Given the description of an element on the screen output the (x, y) to click on. 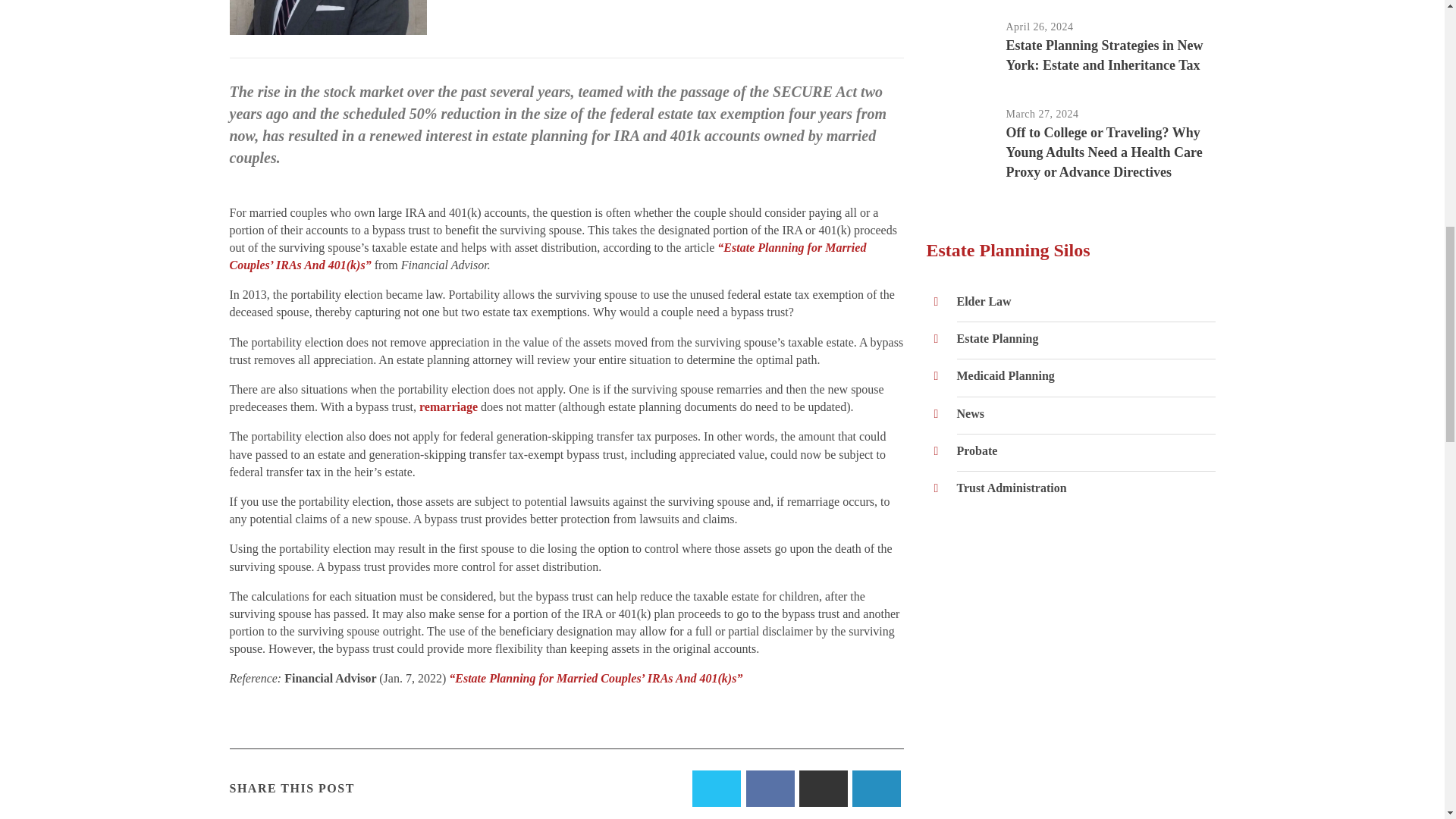
David Parker, Esq. (327, 17)
